Given the description of an element on the screen output the (x, y) to click on. 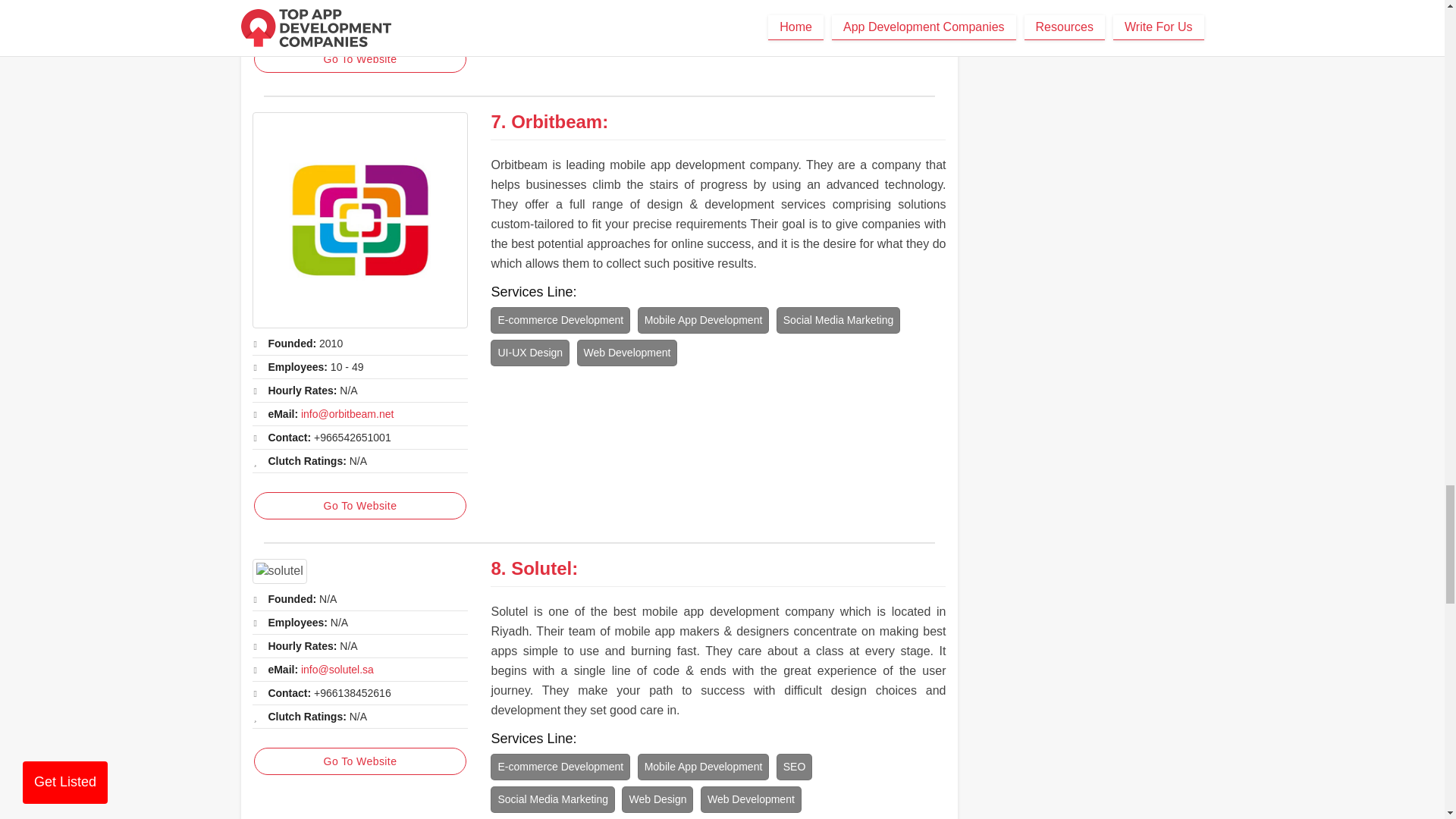
Orbitbeam (556, 121)
Go To Website (359, 58)
Solutel (278, 570)
Orbitbeam (359, 220)
Go To Website (359, 505)
